Given the description of an element on the screen output the (x, y) to click on. 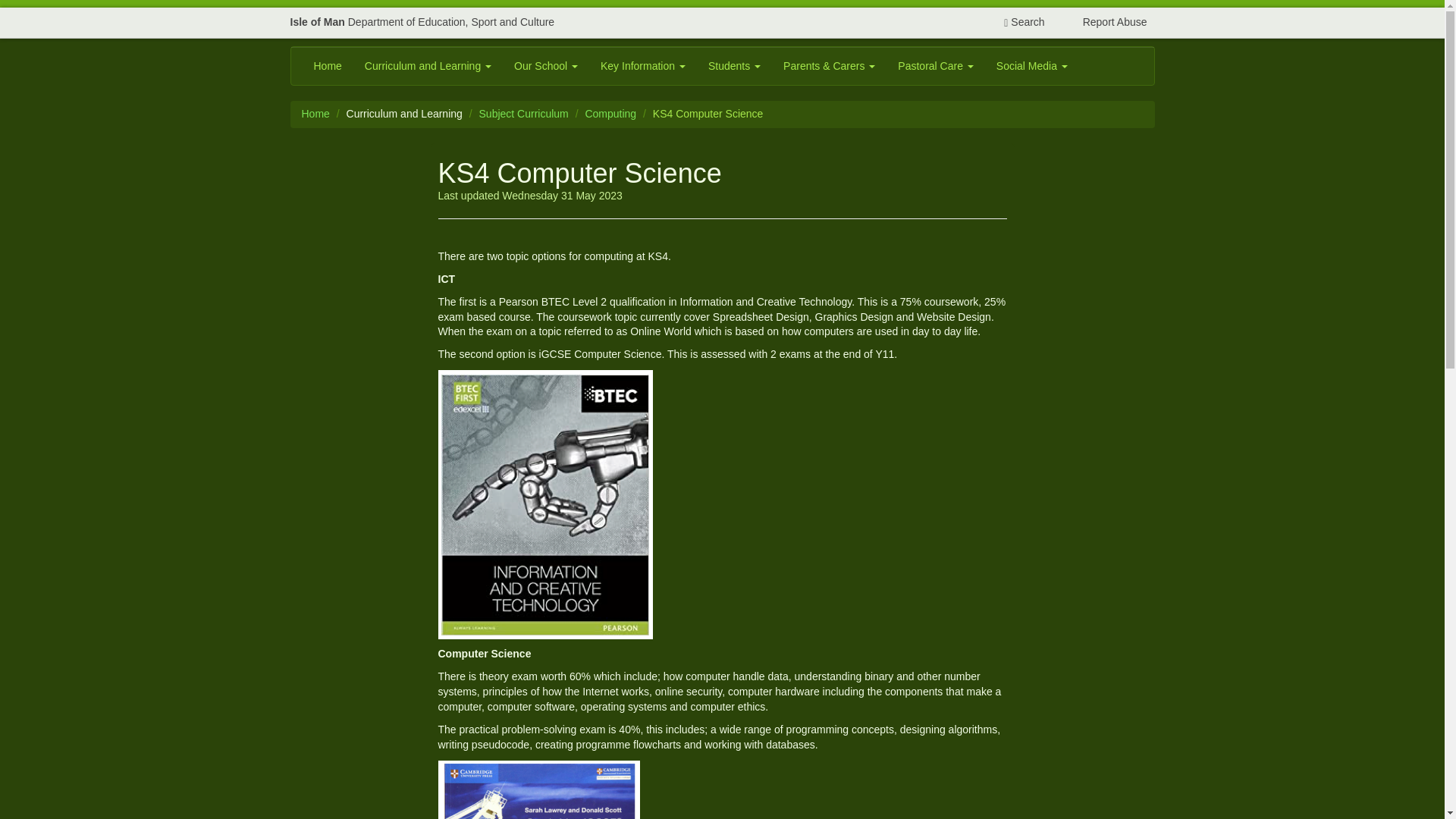
Students (734, 65)
Our School (545, 65)
Report Abuse (1106, 22)
Home (326, 65)
Curriculum and Learning (427, 65)
Go to the home page (315, 113)
Isle of Man Department of Education, Sport and Culture (421, 22)
Search (1023, 22)
Isle of Man Department of Education, Sport and Culture (421, 22)
Your Advice and Help Centre (1106, 22)
